Given the description of an element on the screen output the (x, y) to click on. 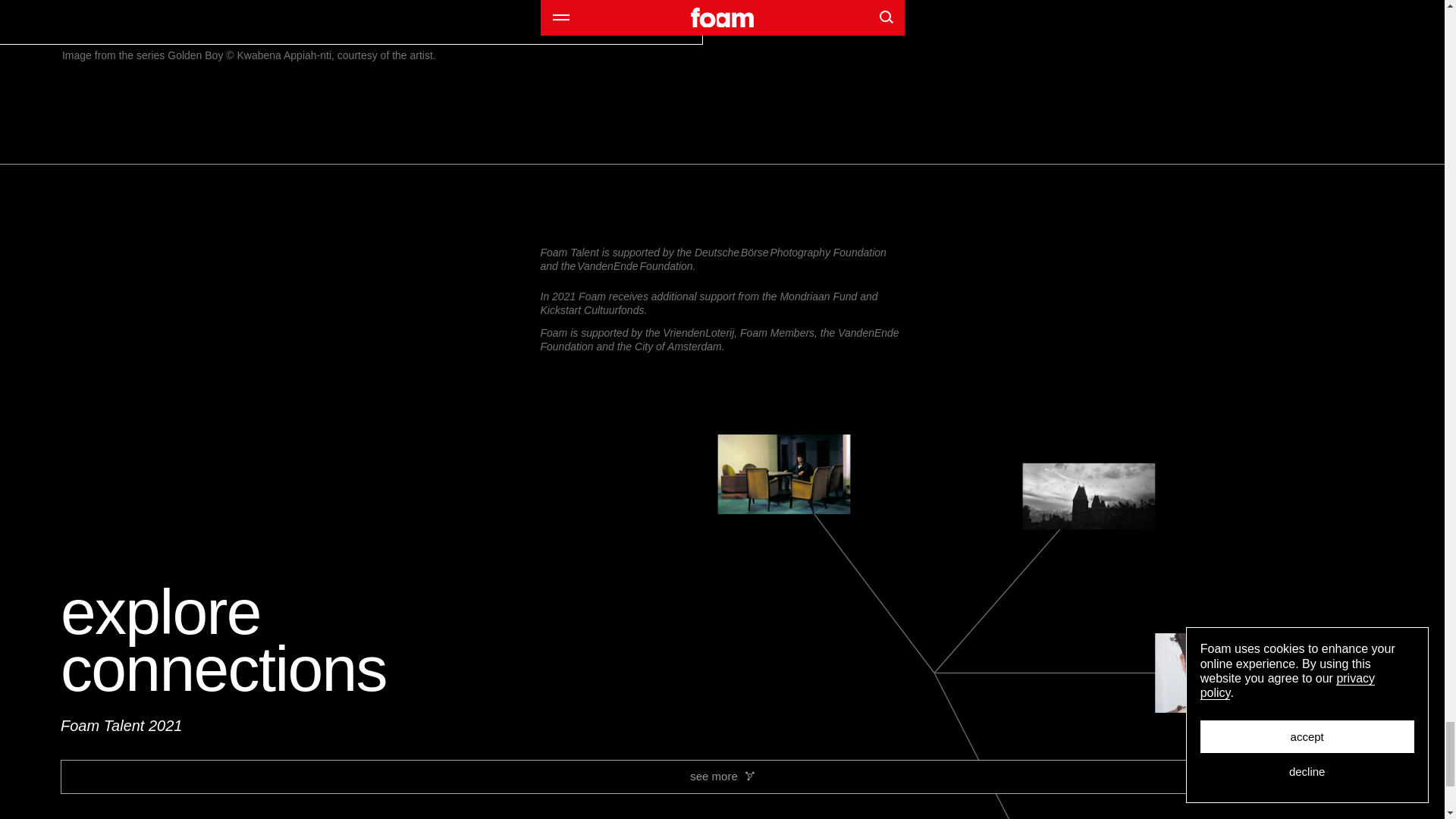
see more (722, 776)
